Given the description of an element on the screen output the (x, y) to click on. 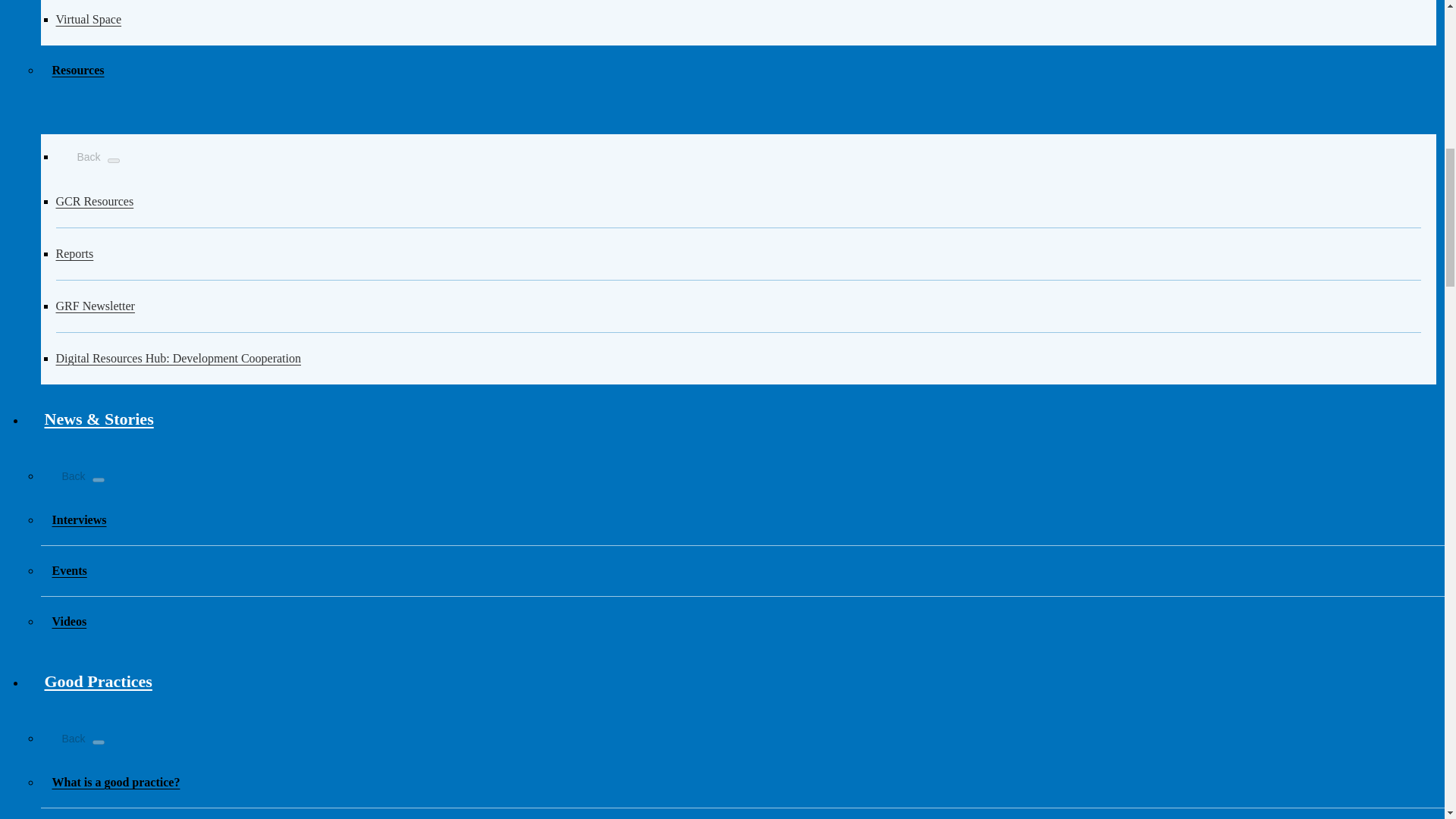
Virtual Space (738, 22)
GCR Resources (738, 201)
Back (80, 155)
